Given the description of an element on the screen output the (x, y) to click on. 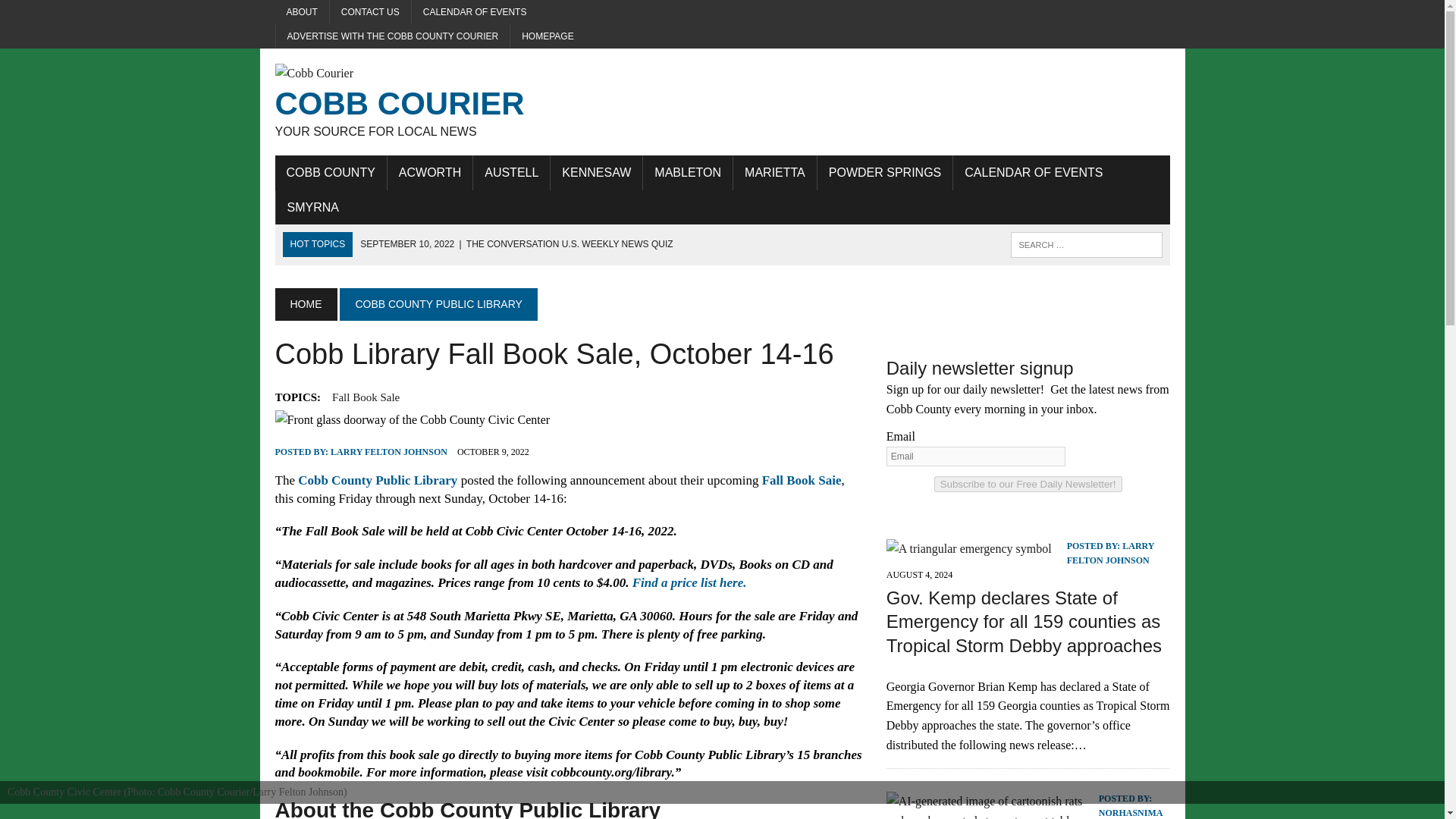
Cobb County Public Library (377, 480)
ABOUT (302, 12)
POWDER SPRINGS (884, 172)
HOMEPAGE (548, 36)
Cobb  Courier (416, 101)
CALENDAR OF EVENTS (475, 12)
AUSTELL (511, 172)
MARIETTA (774, 172)
COBB COUNTY PUBLIC LIBRARY (438, 304)
Fall Book Saie (801, 480)
KENNESAW (416, 101)
Search (596, 172)
Find a price list here. (75, 14)
